Given the description of an element on the screen output the (x, y) to click on. 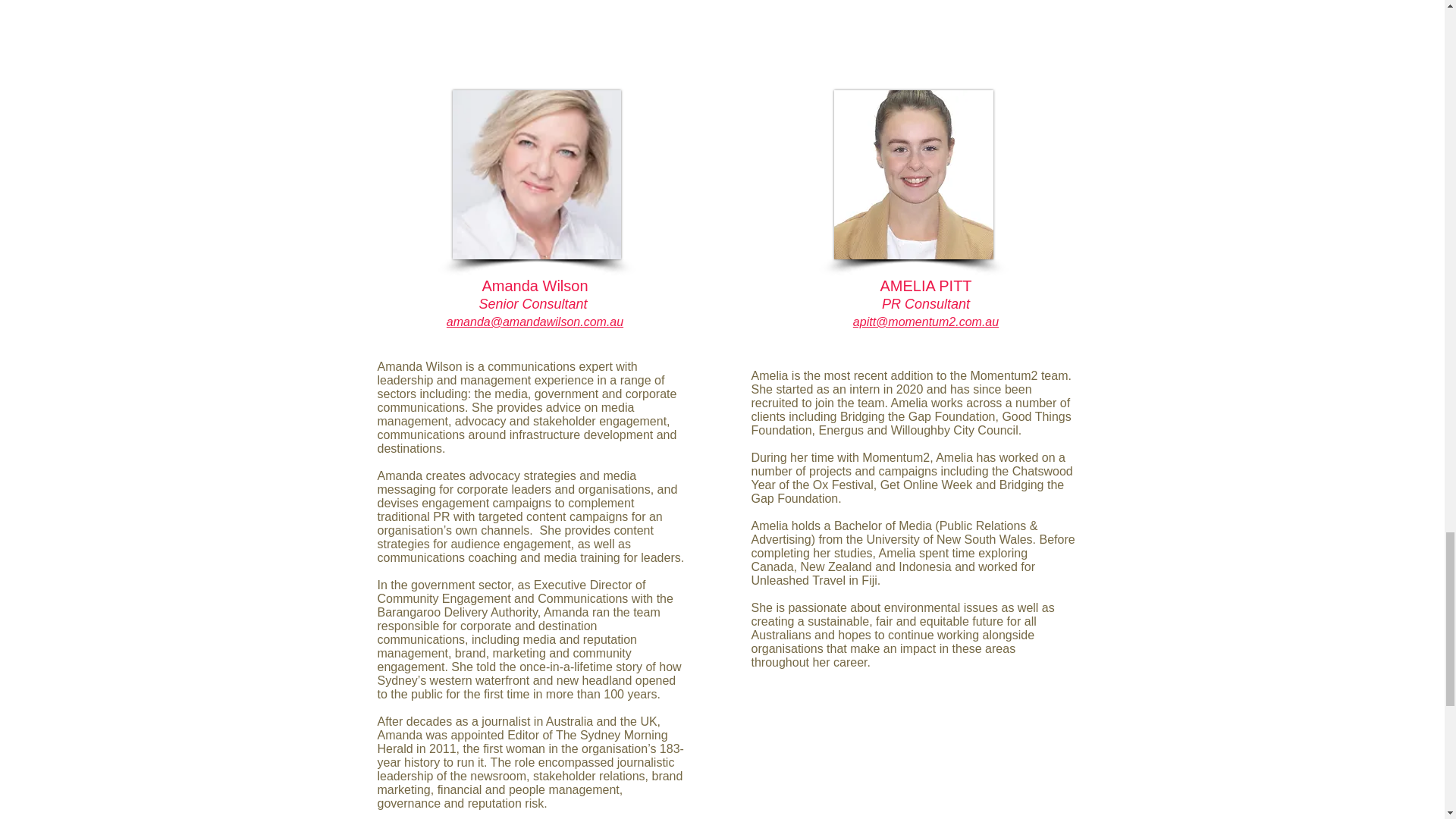
Lo-res-200x300.jpg (535, 174)
